Given the description of an element on the screen output the (x, y) to click on. 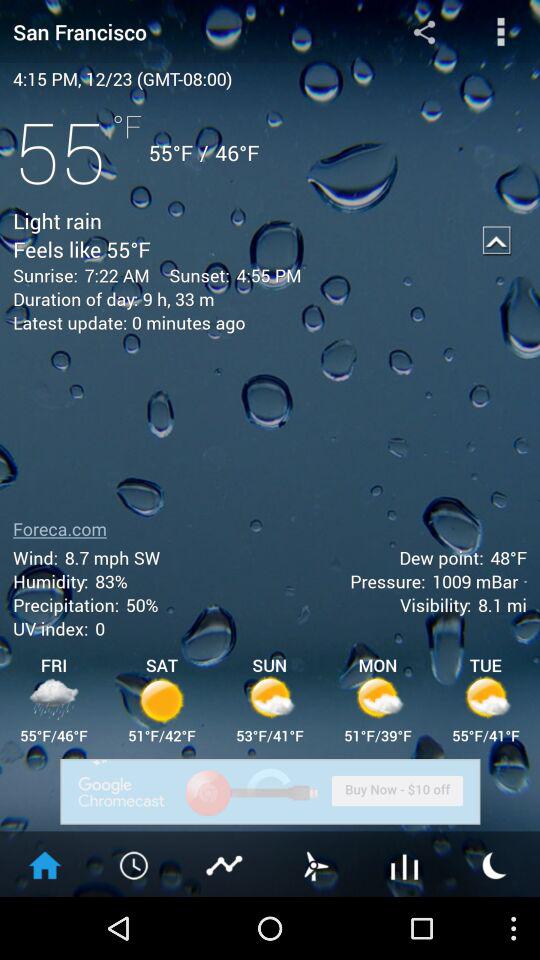
moon phase calendar (495, 864)
